Given the description of an element on the screen output the (x, y) to click on. 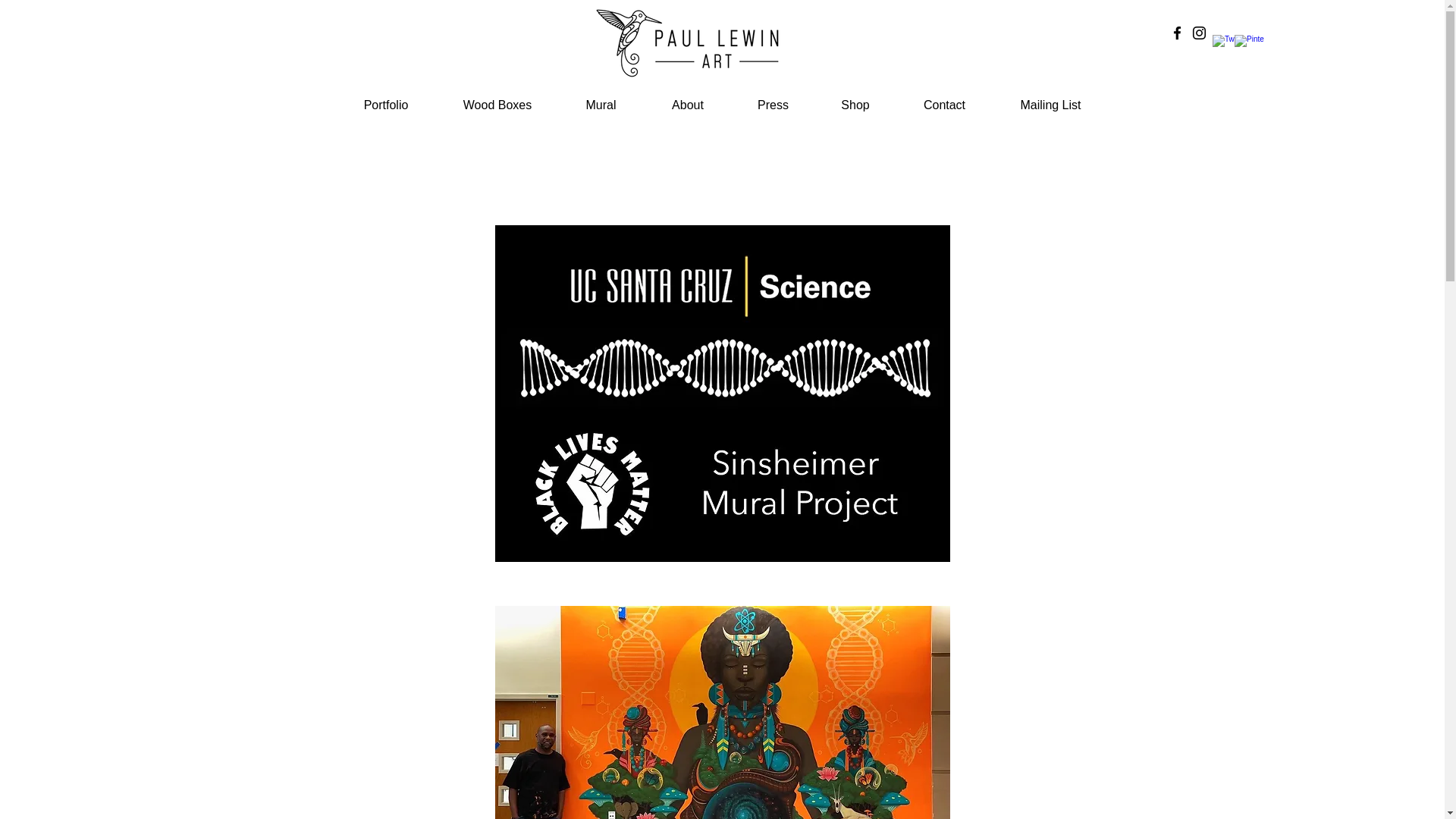
About (688, 105)
Wood Boxes (496, 105)
Mural (601, 105)
Portfolio (386, 105)
Press (771, 105)
Mailing List (1050, 105)
Shop (854, 105)
Contact (944, 105)
